Given the description of an element on the screen output the (x, y) to click on. 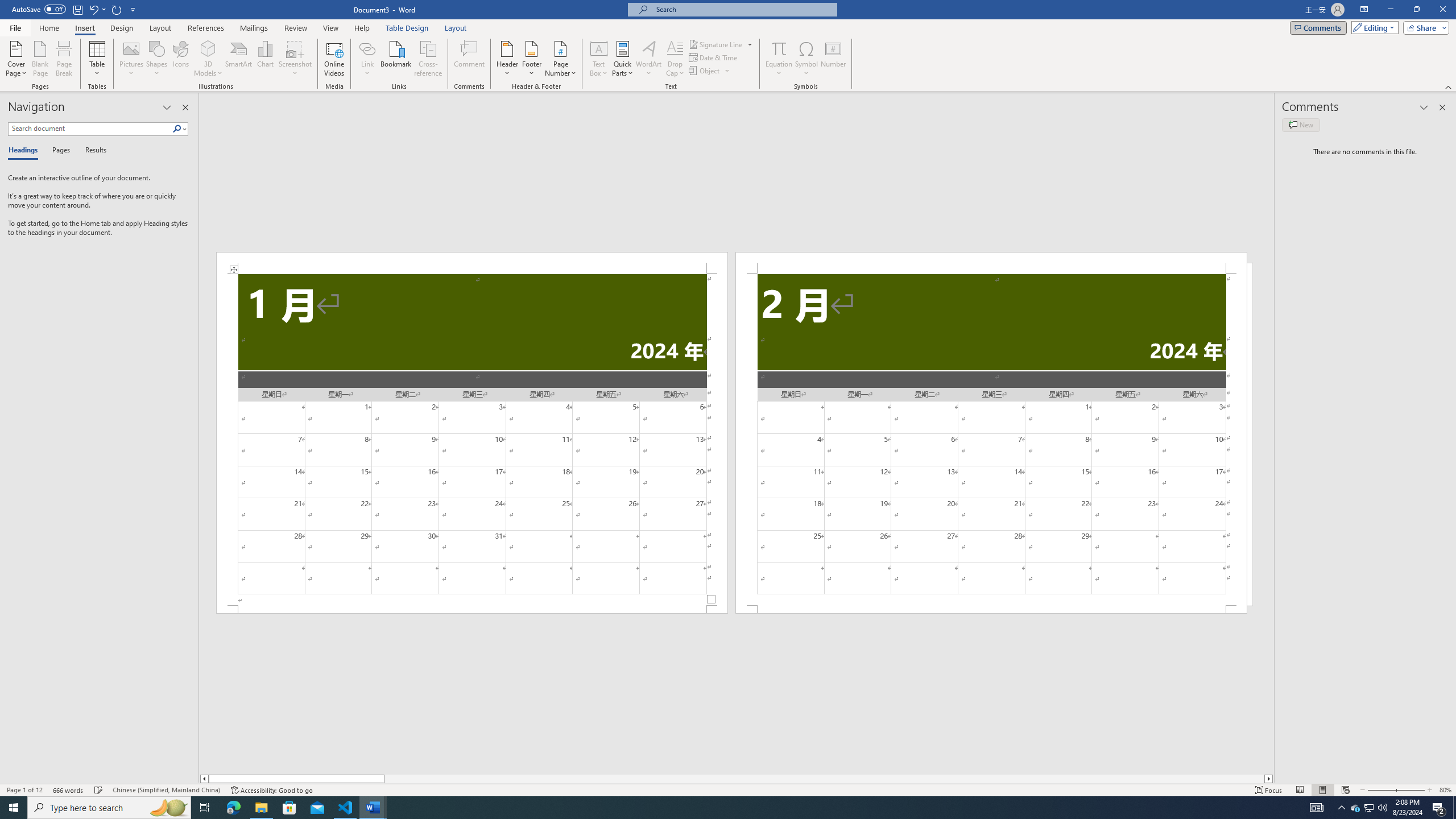
Language Chinese (Simplified, Mainland China) (165, 790)
Page 2 content (991, 439)
Repeat Doc Close (117, 9)
Search (177, 128)
Read Mode (1299, 790)
Spelling and Grammar Check Checking (98, 790)
Layout (455, 28)
Mailings (253, 28)
Task Pane Options (167, 107)
Comment (469, 58)
Design (122, 28)
Close pane (185, 107)
Results (91, 150)
